Given the description of an element on the screen output the (x, y) to click on. 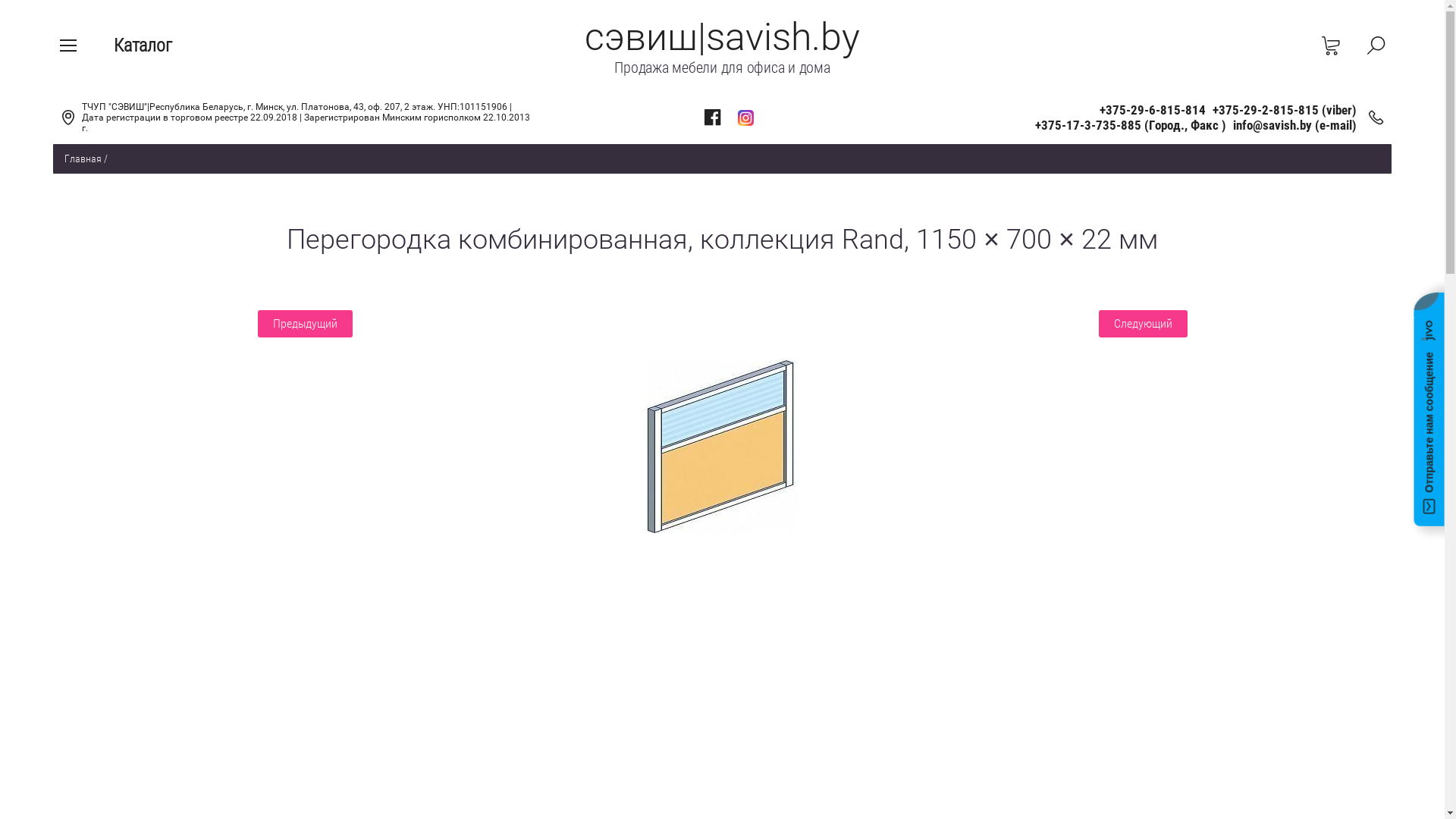
+375-29-6-815-814 Element type: text (1152, 109)
info@savish.by (e-mail) Element type: text (1294, 124)
+375-29-2-815-815 (viber) Element type: text (1284, 109)
